Given the description of an element on the screen output the (x, y) to click on. 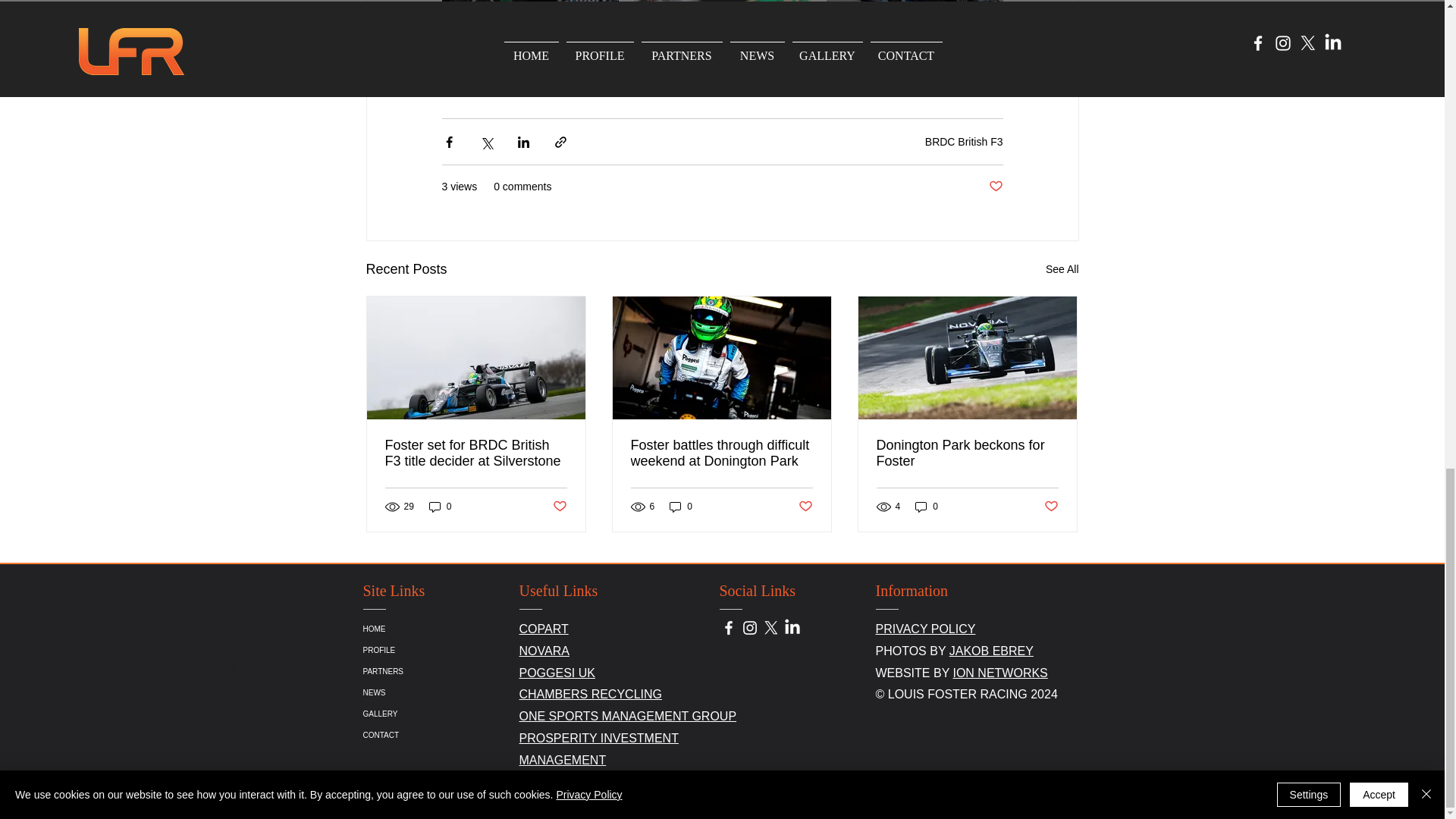
HOME (447, 629)
Post not marked as liked (558, 505)
0 (681, 506)
Foster set for BRDC British F3 title decider at Silverstone (476, 453)
BRDC British F3 (963, 141)
Post not marked as liked (804, 505)
PROFILE (447, 649)
NEWS (447, 692)
PARTNERS (447, 671)
See All (1061, 269)
